Given the description of an element on the screen output the (x, y) to click on. 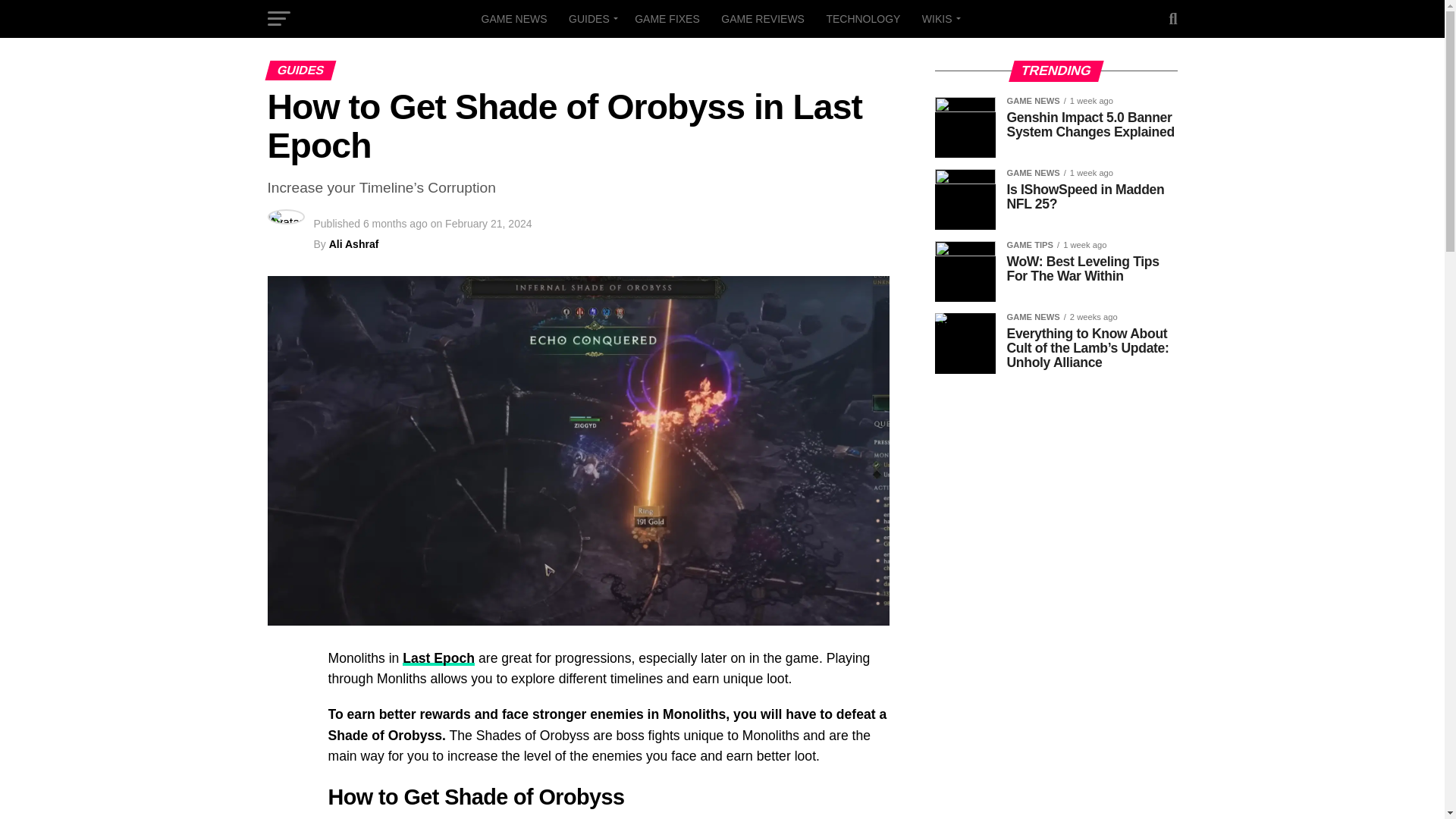
Posts by Ali Ashraf (353, 244)
GAME REVIEWS (762, 18)
GAME NEWS (513, 18)
TECHNOLOGY (862, 18)
GAME FIXES (667, 18)
Last Epoch (438, 657)
WIKIS (938, 18)
Ali Ashraf (353, 244)
GUIDES (591, 18)
